Given the description of an element on the screen output the (x, y) to click on. 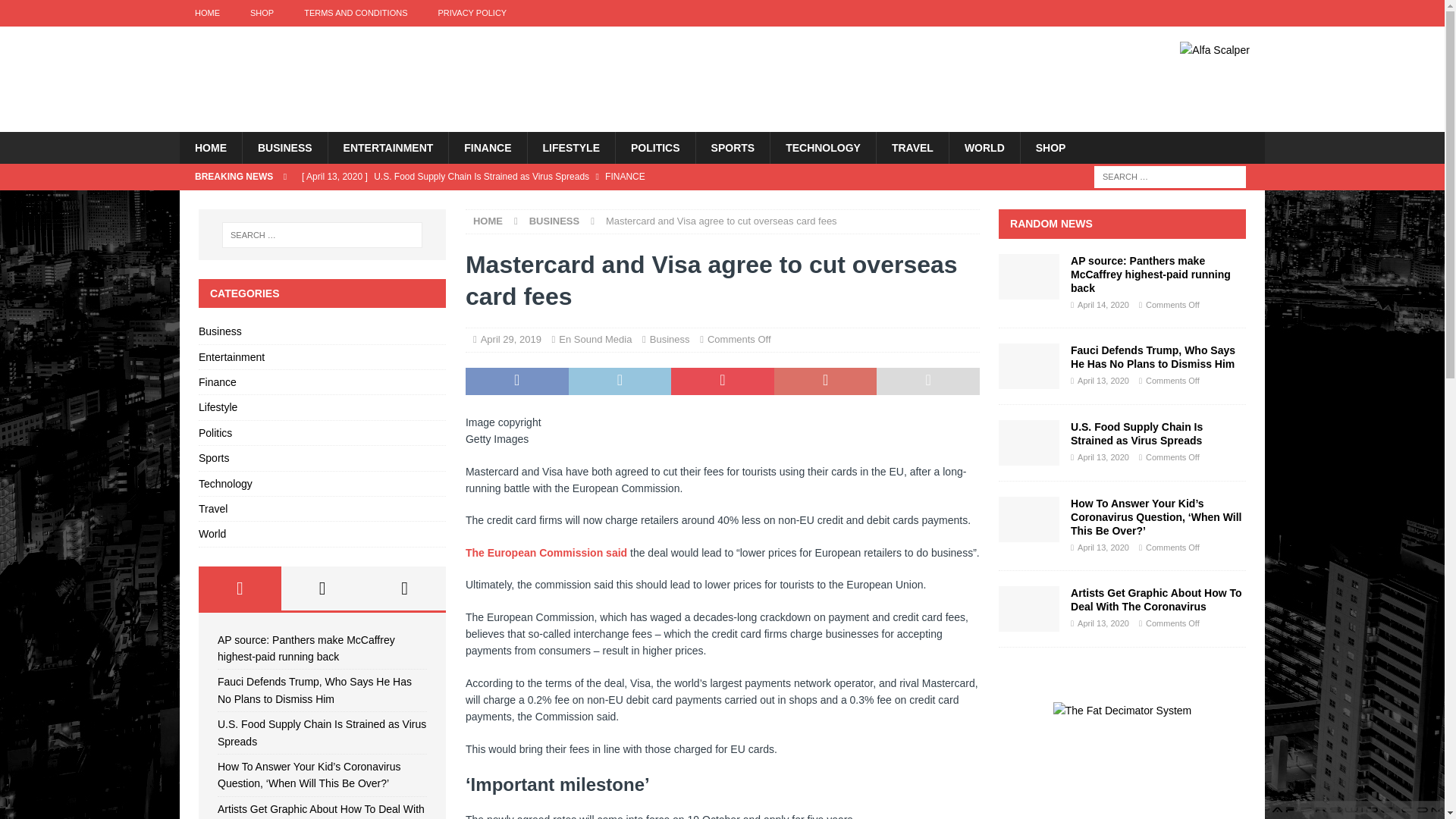
TECHNOLOGY (823, 147)
WORLD (984, 147)
BUSINESS (284, 147)
HOME (206, 13)
ENTERTAINMENT (387, 147)
PRIVACY POLICY (471, 13)
Search (56, 11)
SPORTS (732, 147)
SHOP (1050, 147)
POLITICS (654, 147)
HOME (210, 147)
FINANCE (486, 147)
U.S. Food Supply Chain Is Strained as Virus Spreads (590, 176)
TRAVEL (912, 147)
SHOP (261, 13)
